Given the description of an element on the screen output the (x, y) to click on. 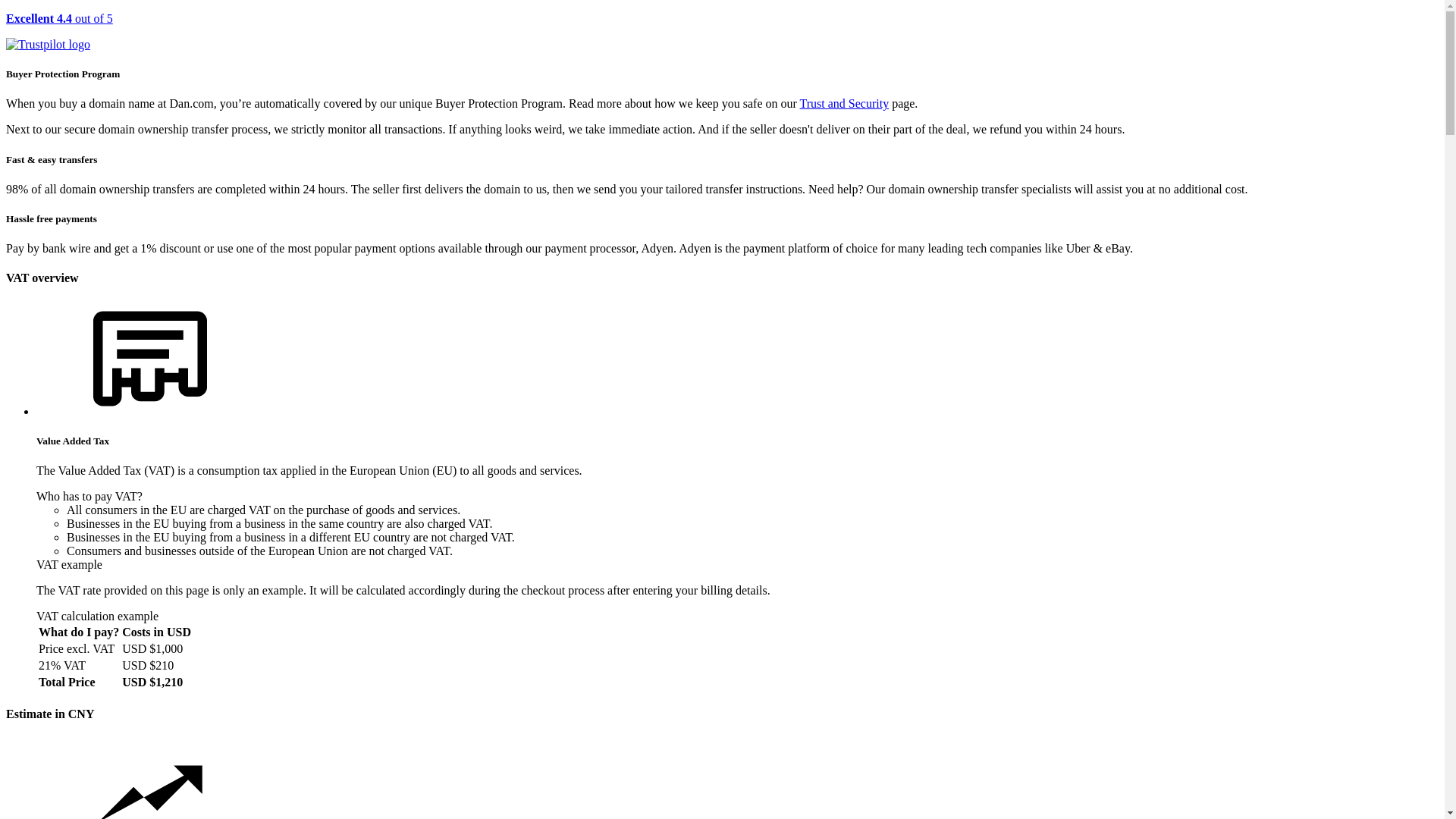
Excellent 4.4 out of 5 Element type: text (722, 31)
Trust and Security Element type: text (844, 103)
